Given the description of an element on the screen output the (x, y) to click on. 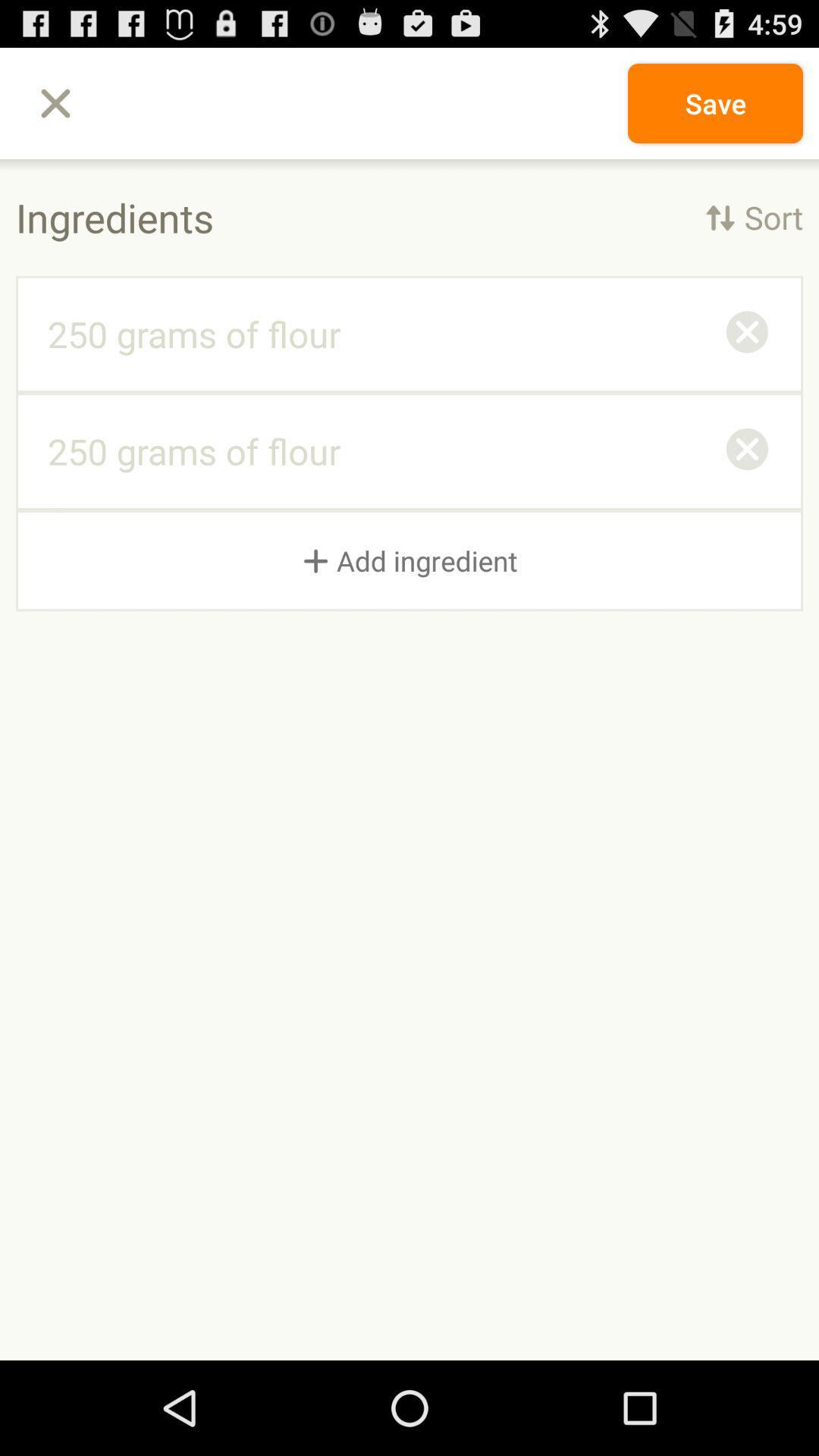
tap item to the right of the ingredients icon (753, 216)
